Given the description of an element on the screen output the (x, y) to click on. 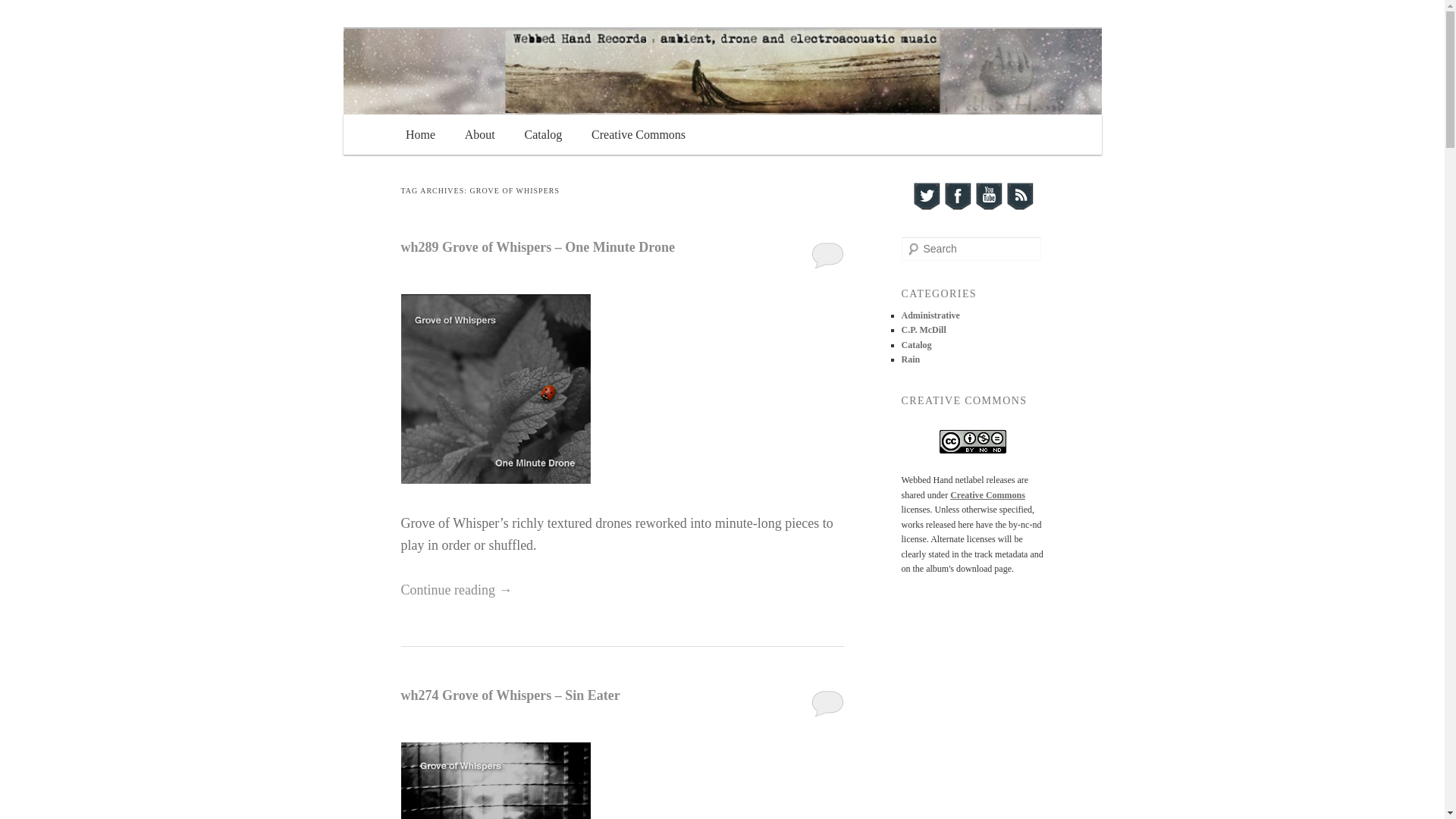
About (479, 133)
Home (420, 133)
Creative Commons (638, 133)
Skip to secondary content (487, 135)
Skip to secondary content (487, 135)
Skip to primary content (481, 135)
Skip to primary content (481, 135)
Catalog (542, 133)
Webbed Hand Records (497, 92)
Webbed Hand Records (497, 92)
